Given the description of an element on the screen output the (x, y) to click on. 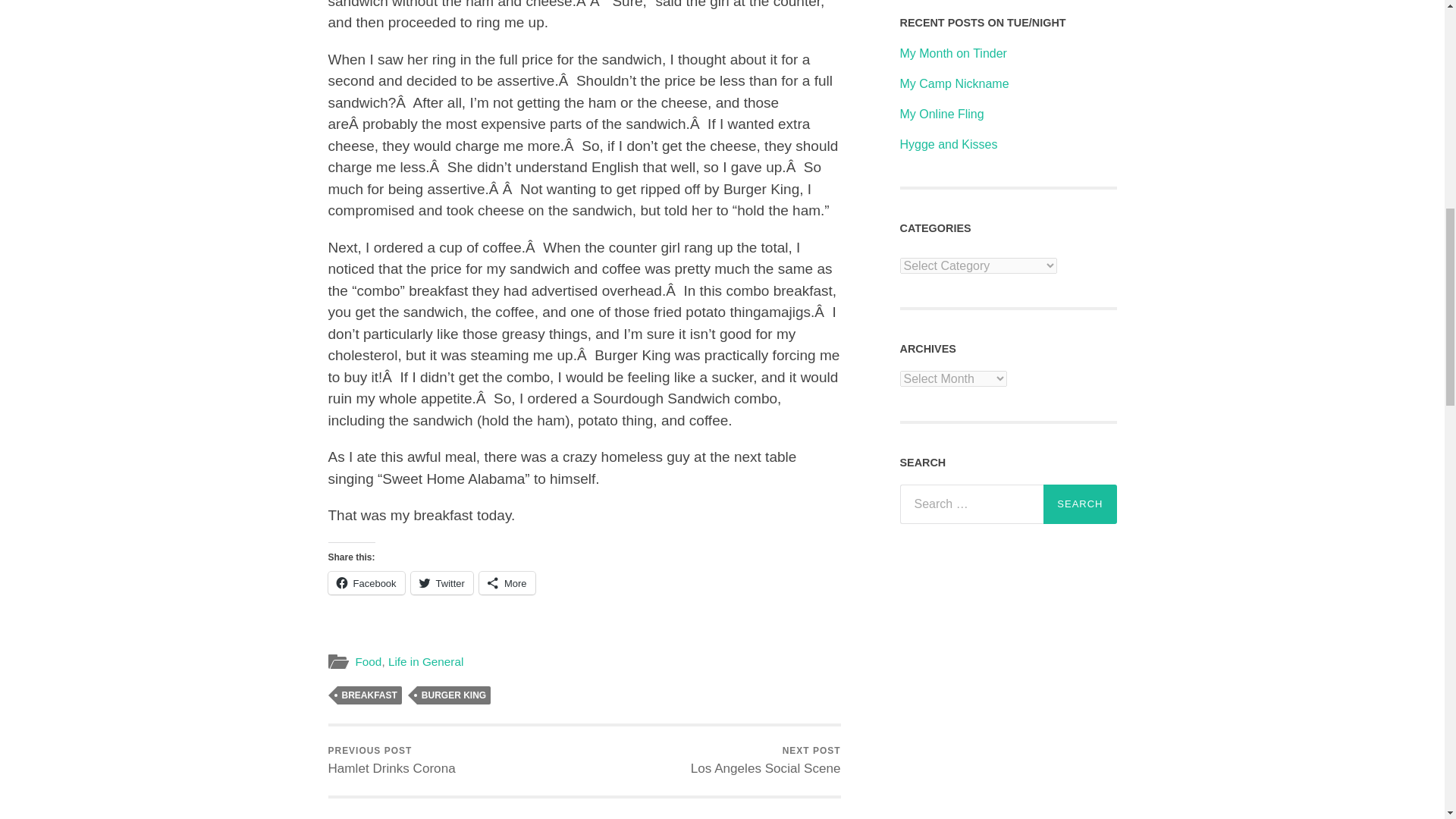
Click to share on Twitter (441, 582)
Food (368, 661)
Click to share on Facebook (365, 582)
Search (1079, 504)
BREAKFAST (368, 695)
Search (1079, 504)
BURGER KING (453, 695)
Facebook (765, 760)
Life in General (365, 582)
